Given the description of an element on the screen output the (x, y) to click on. 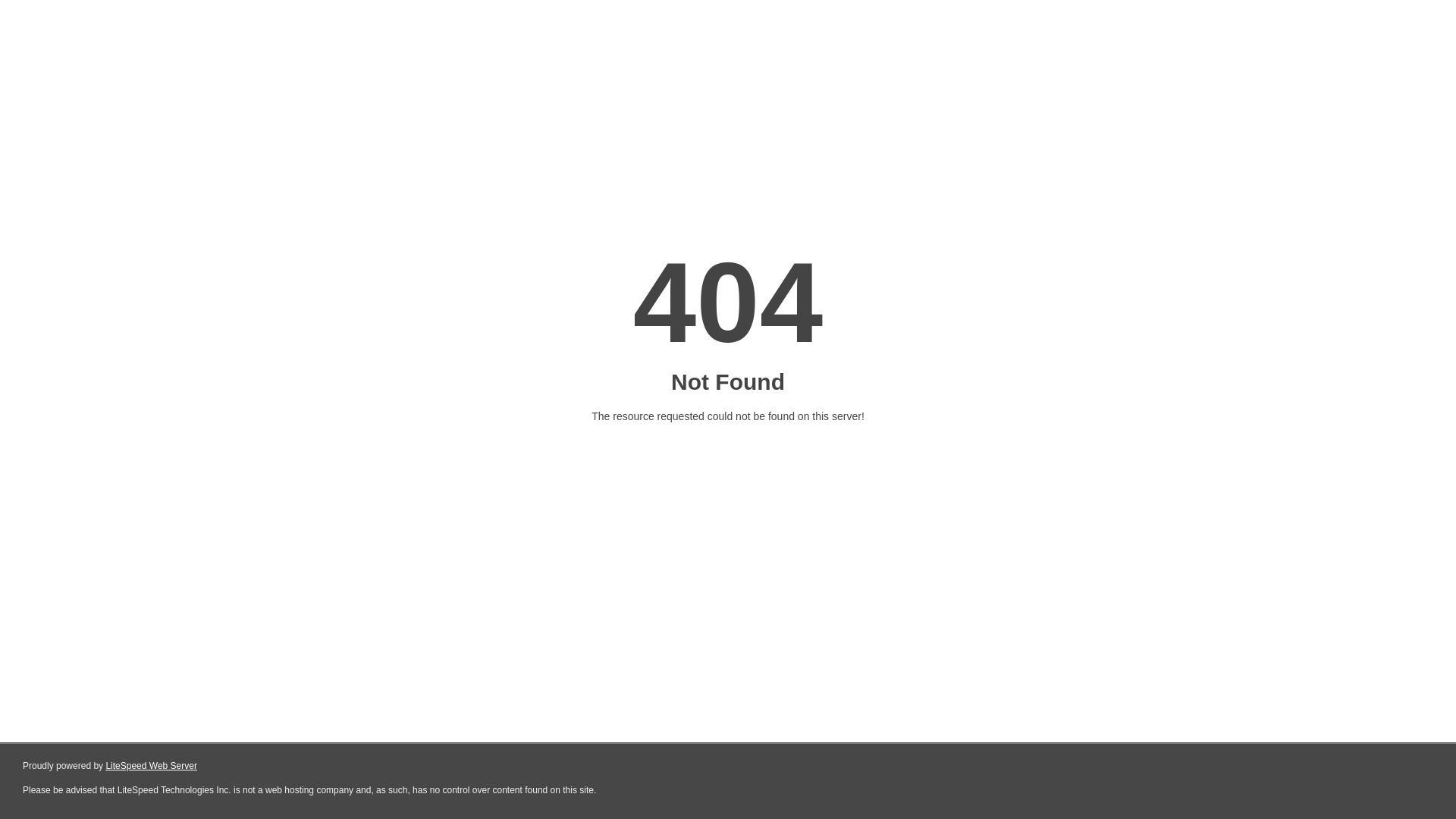
LiteSpeed Web Server Element type: text (151, 765)
